Given the description of an element on the screen output the (x, y) to click on. 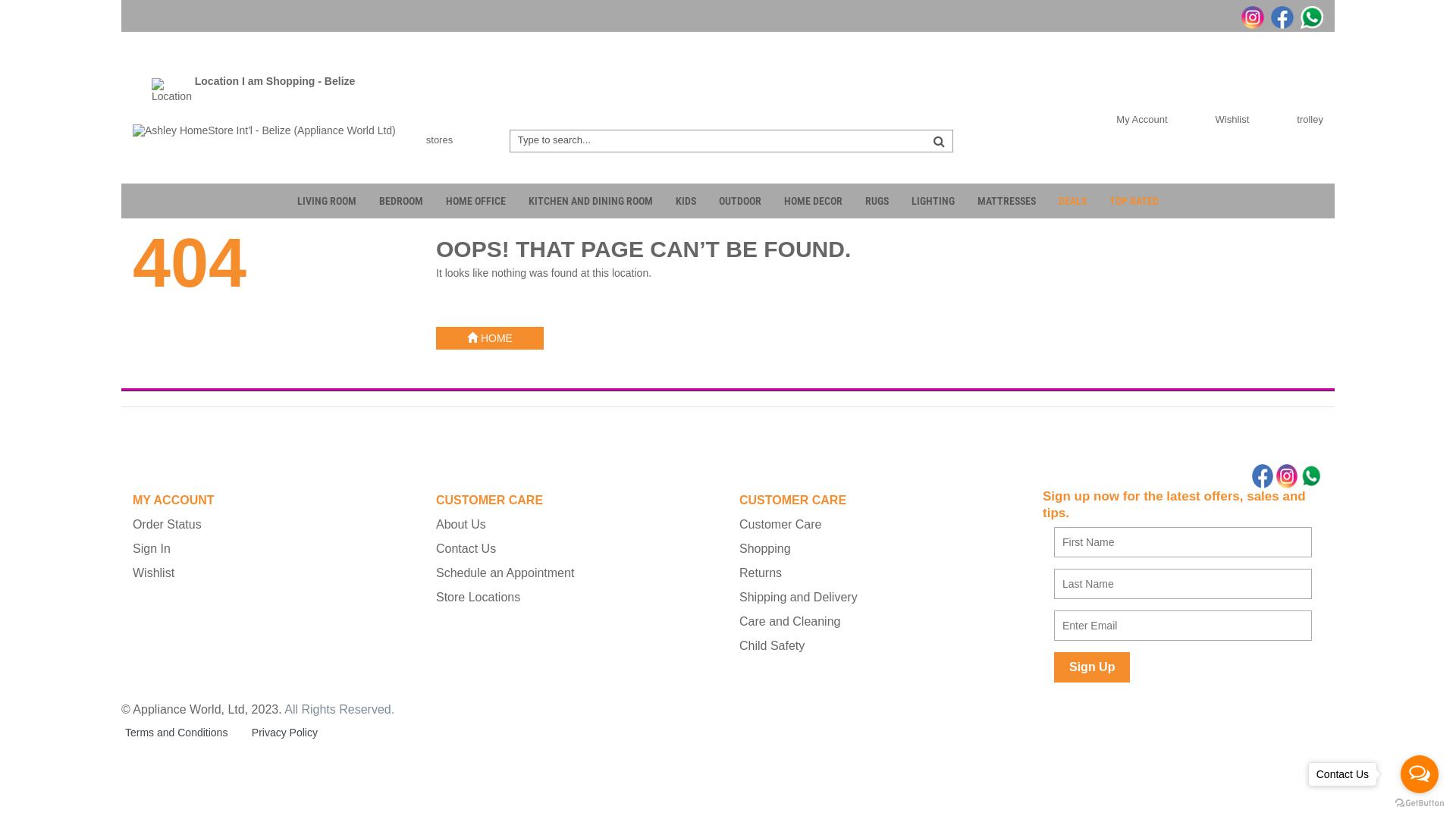
KIDS Element type: text (685, 200)
Order Status Element type: text (272, 524)
Schedule an Appointment Element type: text (576, 573)
Ashley HomeStore Int'l - Belize (Appliance World Ltd) Element type: hover (263, 130)
Wishlist Element type: text (1221, 118)
RUGS Element type: text (876, 200)
Child Safety Element type: text (879, 645)
LIVING ROOM Element type: text (326, 200)
Store Locations Element type: text (576, 597)
Care and Cleaning Element type: text (879, 621)
Terms and Conditions Element type: text (176, 732)
Shopping Element type: text (879, 548)
Sign Up Element type: text (1091, 667)
stores Element type: text (427, 139)
Customer Care Element type: text (879, 524)
HOME OFFICE Element type: text (475, 200)
Contact Us Element type: text (576, 548)
TOP RATED Element type: text (1134, 200)
OUTDOOR Element type: text (739, 200)
Wishlist Element type: text (272, 573)
Ashley HomeStore Int'l - Belize (Appliance World Ltd) Element type: hover (263, 128)
HOME Element type: text (489, 338)
Sign In Element type: text (272, 548)
Facebook Element type: hover (1280, 15)
trolley Element type: text (1299, 118)
My Account Element type: text (1131, 118)
Privacy Policy Element type: text (284, 732)
HOME DECOR Element type: text (812, 200)
KITCHEN AND DINING ROOM Element type: text (590, 200)
Shipping and Delivery Element type: text (879, 597)
BEDROOM Element type: text (400, 200)
LIGHTING Element type: text (933, 200)
Whatsapp Element type: hover (1309, 15)
DEALS Element type: text (1072, 200)
About Us Element type: text (576, 524)
Instagram Element type: hover (1250, 15)
Returns Element type: text (879, 573)
MATTRESSES Element type: text (1006, 200)
